Given the description of an element on the screen output the (x, y) to click on. 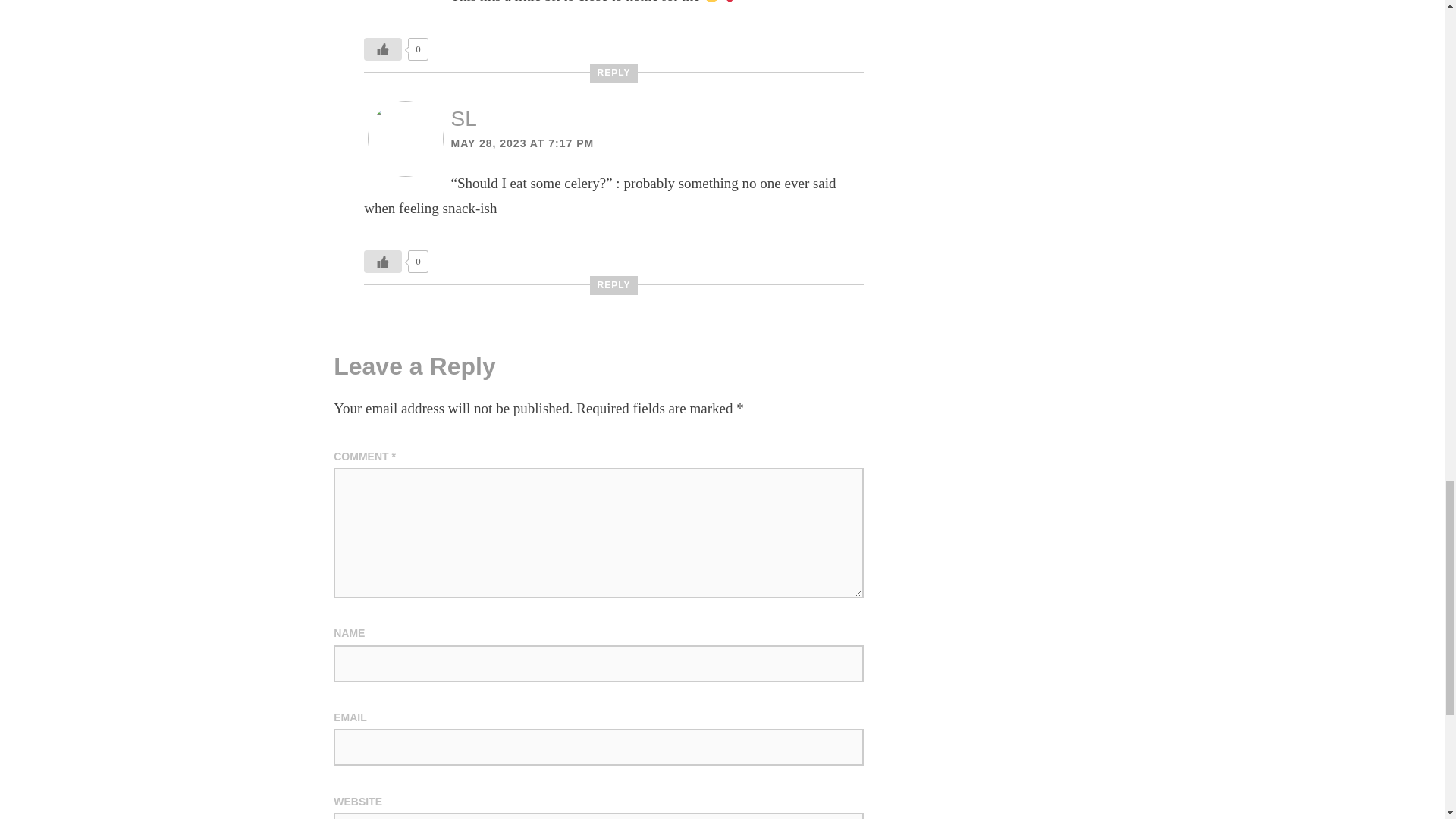
REPLY (614, 285)
REPLY (614, 72)
MAY 28, 2023 AT 7:17 PM (521, 143)
